Given the description of an element on the screen output the (x, y) to click on. 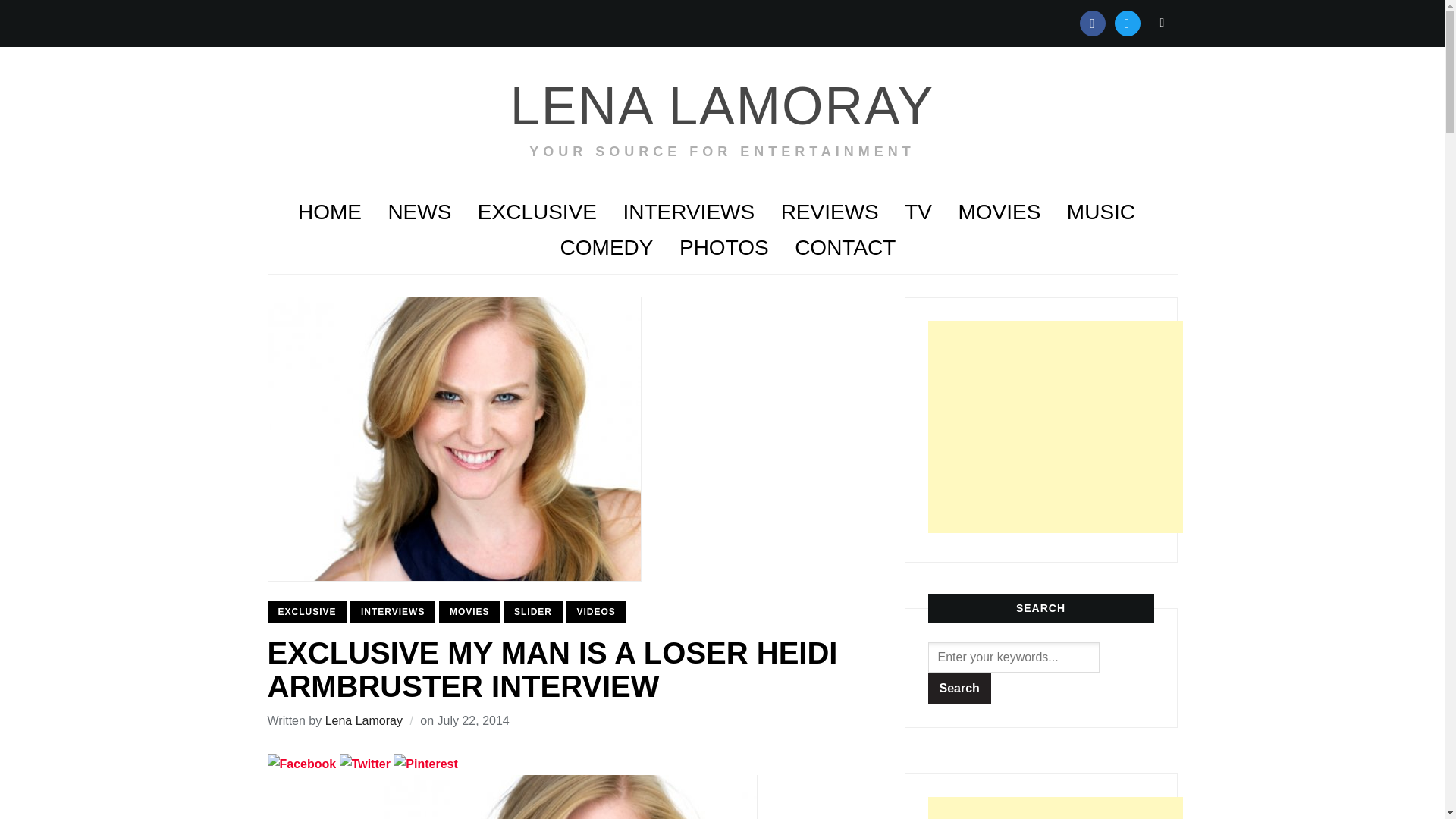
INTERVIEWS (392, 611)
MOVIES (999, 212)
REVIEWS (829, 212)
PHOTOS (723, 248)
EXCLUSIVE (536, 212)
COMEDY (606, 248)
Facebook (301, 763)
VIDEOS (596, 611)
Facebook (1092, 21)
Search (1161, 22)
